Given the description of an element on the screen output the (x, y) to click on. 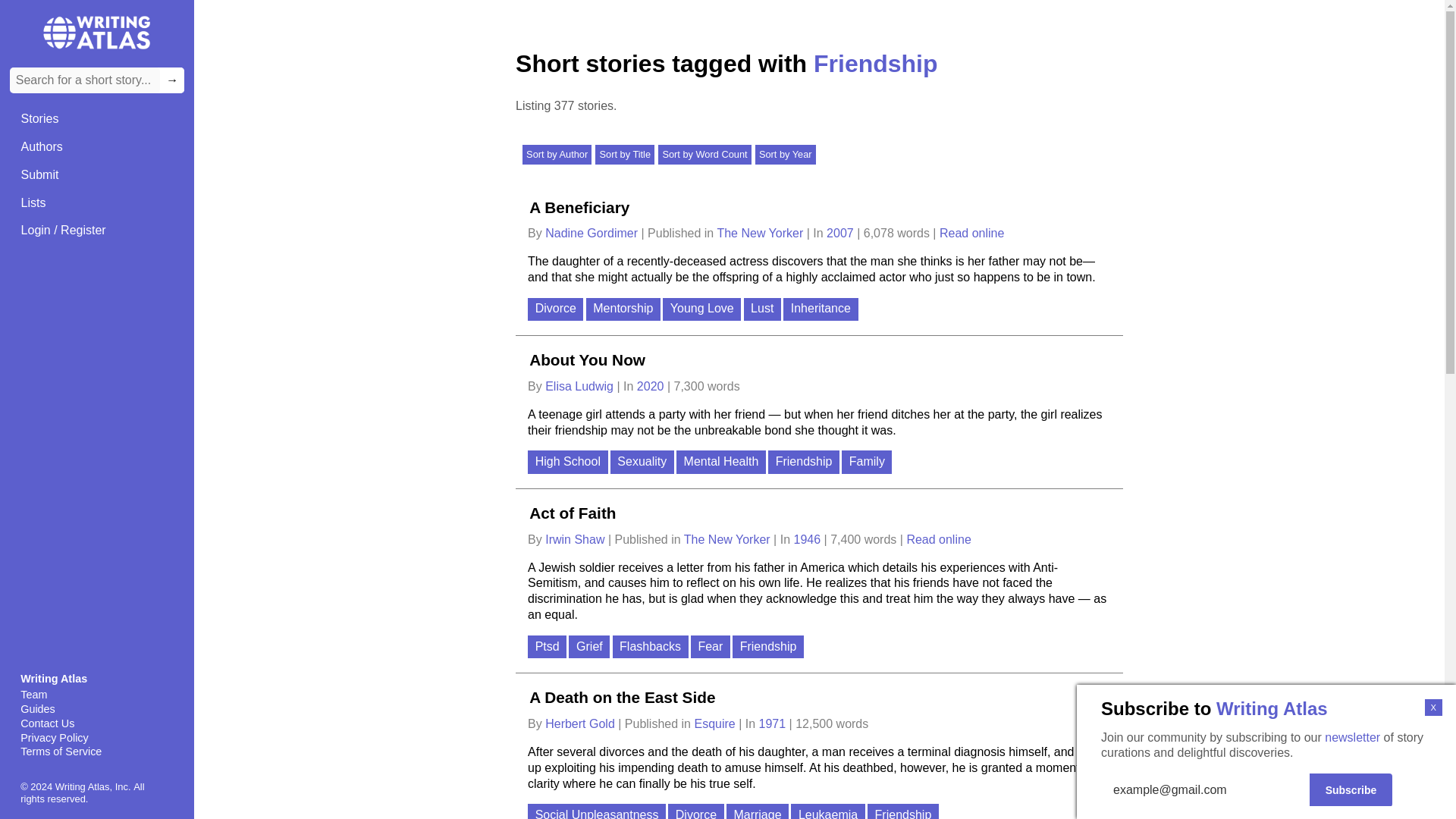
Lust (764, 310)
High School (568, 462)
2007 (842, 232)
Authors (41, 147)
Sexuality (643, 462)
Inheritance (821, 310)
The New Yorker (728, 539)
Guides (96, 708)
Divorce (556, 310)
Submit (39, 175)
